Given the description of an element on the screen output the (x, y) to click on. 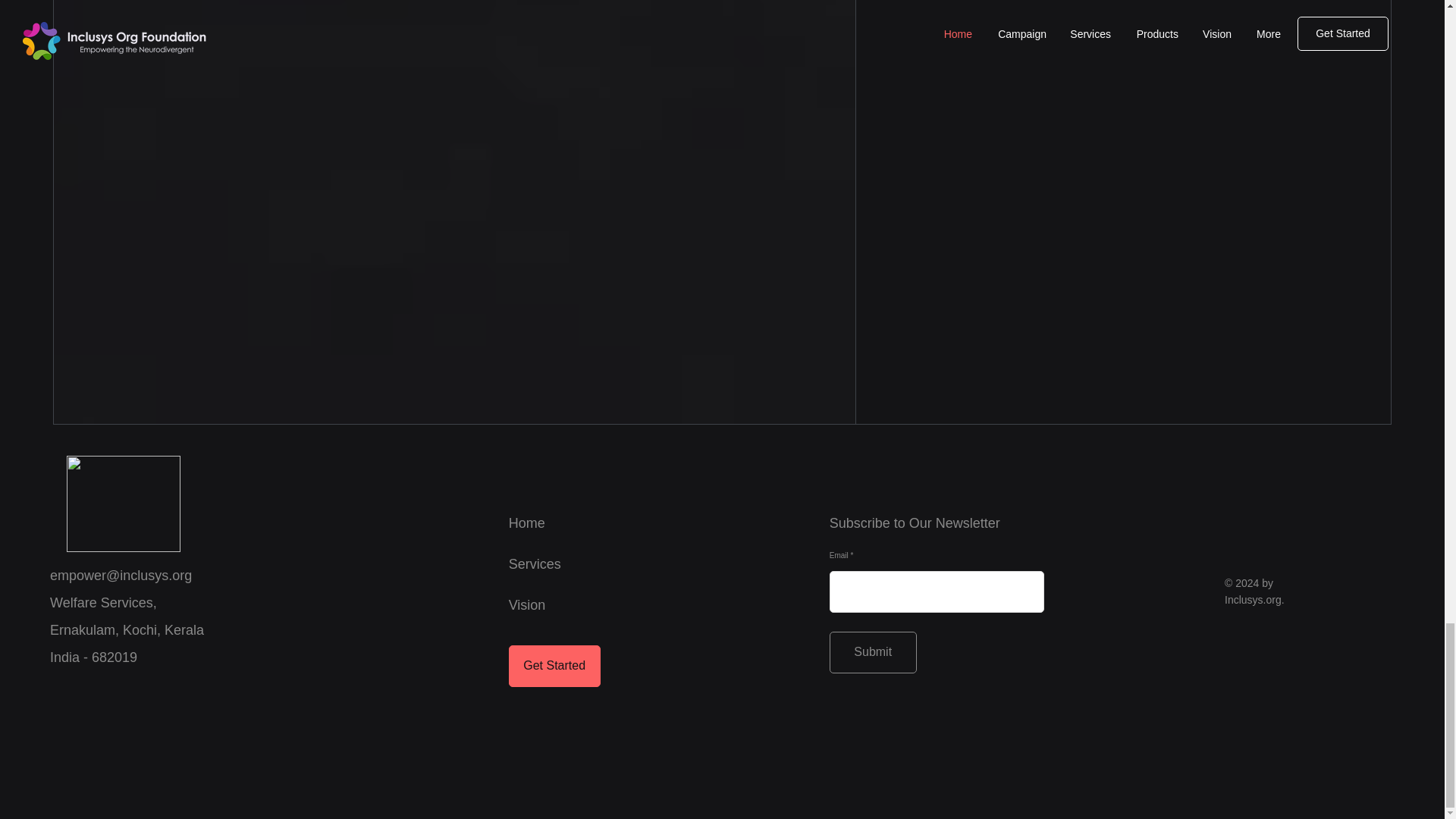
Submit (873, 652)
Services (534, 563)
Home (526, 522)
Get Started (553, 666)
Vision (527, 604)
